Given the description of an element on the screen output the (x, y) to click on. 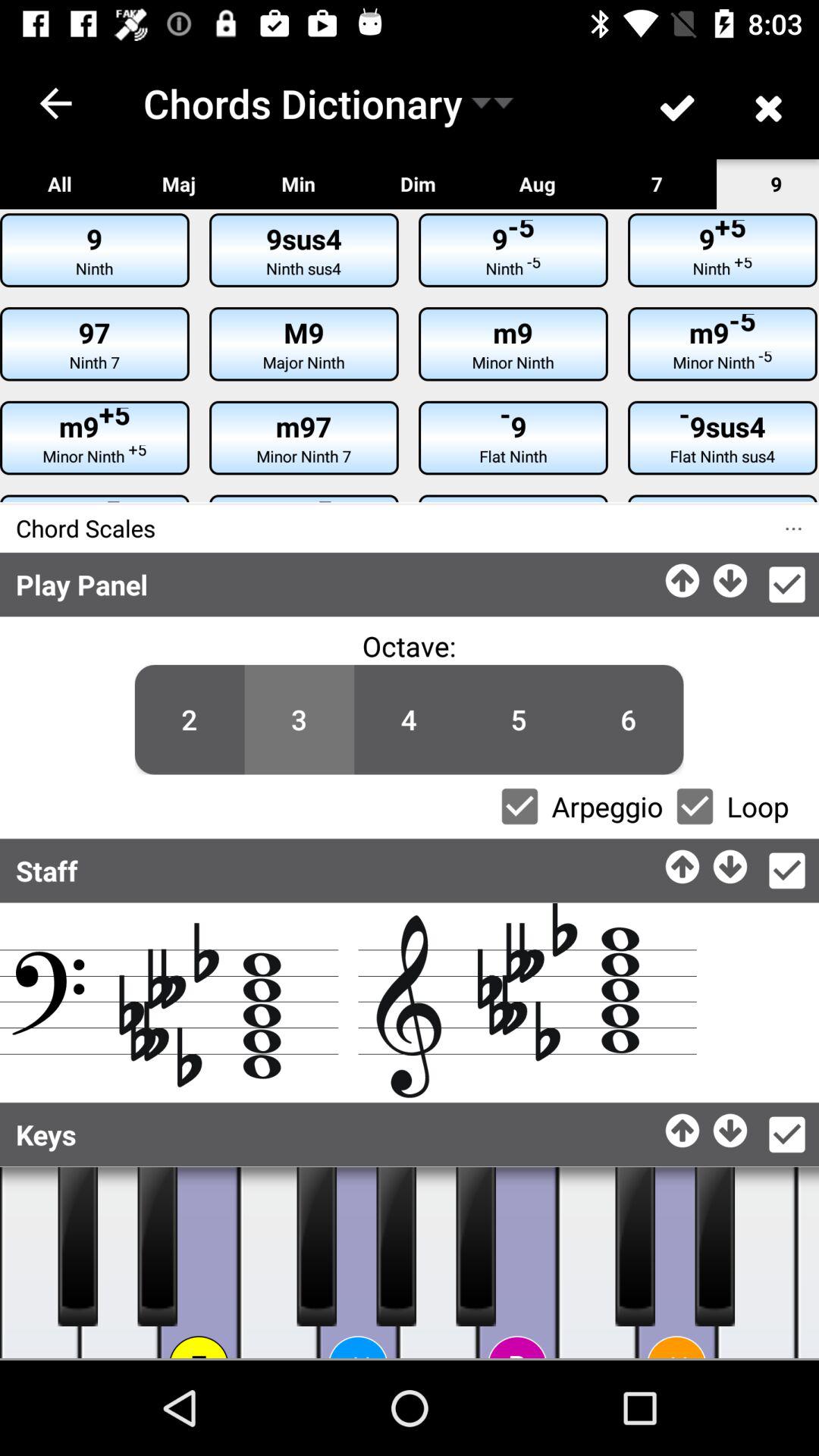
go to tick option (787, 1134)
